Given the description of an element on the screen output the (x, y) to click on. 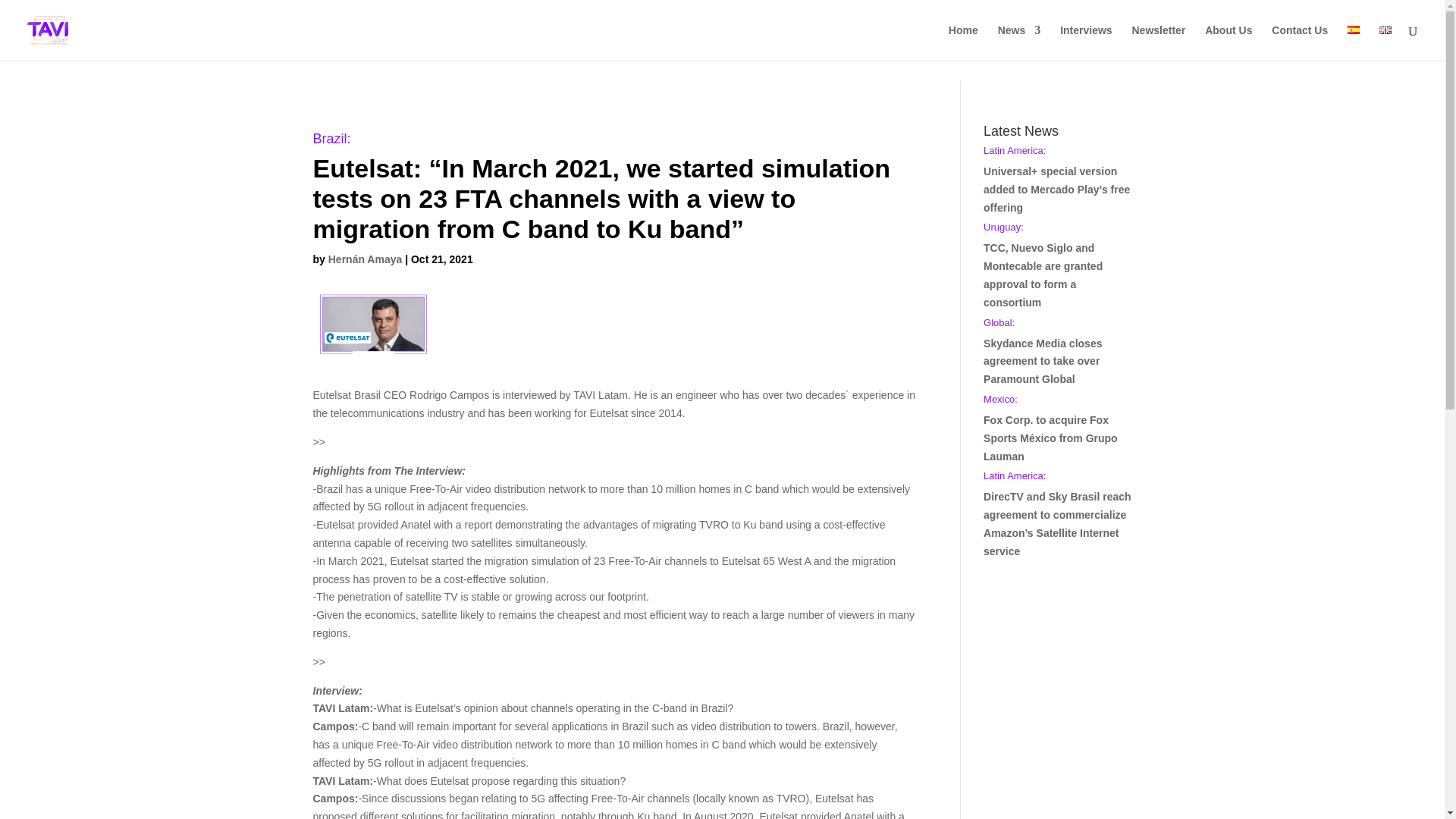
Newsletter (1158, 42)
Interviews (1085, 42)
News (1019, 42)
About Us (1228, 42)
Contact Us (1299, 42)
